Given the description of an element on the screen output the (x, y) to click on. 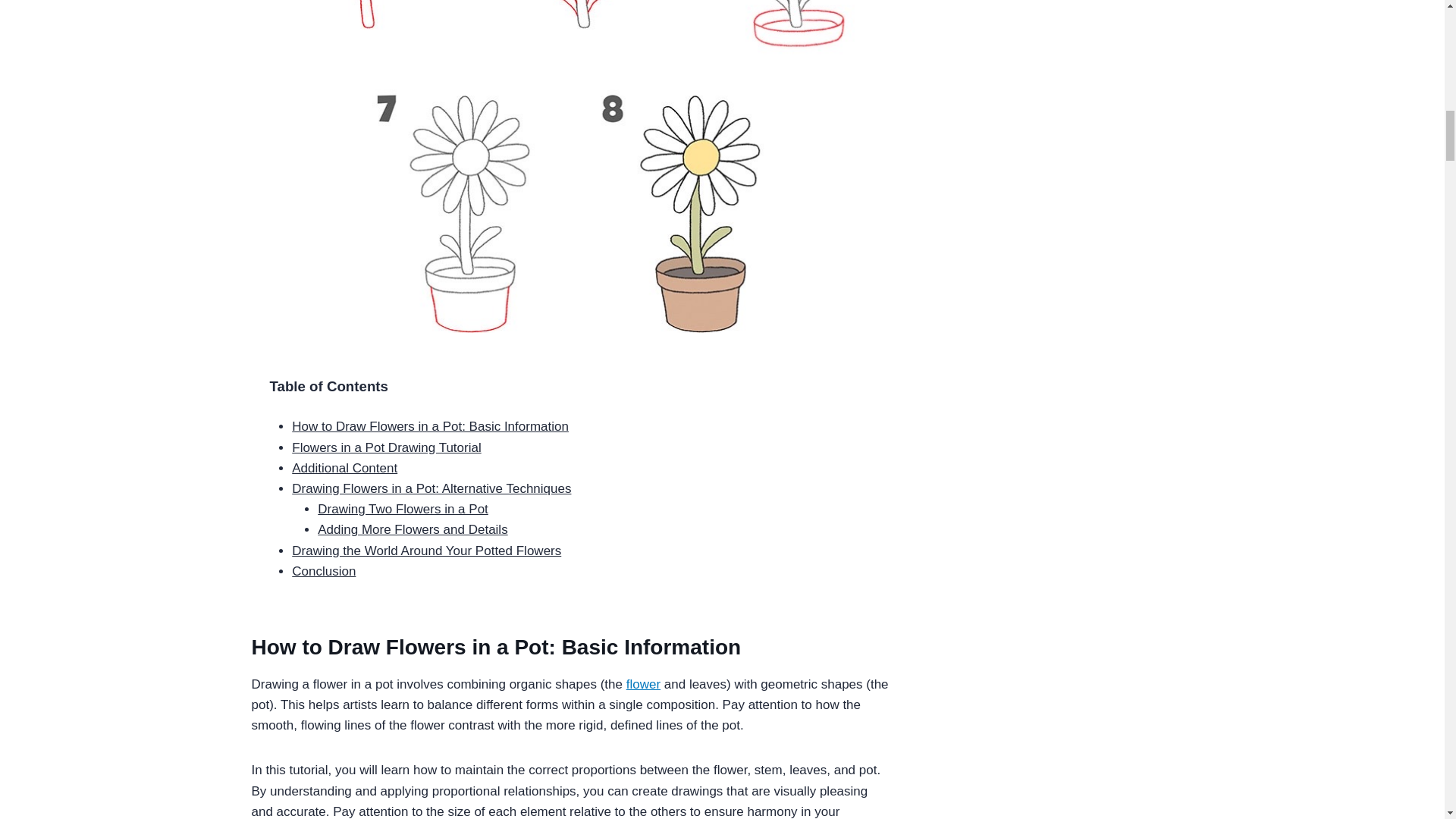
Conclusion (323, 571)
Flowers in a Pot Drawing Tutorial (386, 447)
flower (643, 684)
Drawing Two Flowers in a Pot (402, 509)
Drawing the World Around Your Potted Flowers (426, 549)
Adding More Flowers and Details (411, 529)
Additional Content (344, 468)
Drawing Flowers in a Pot: Alternative Techniques (431, 488)
How to Draw Flowers in a Pot: Basic Information (430, 426)
